Given the description of an element on the screen output the (x, y) to click on. 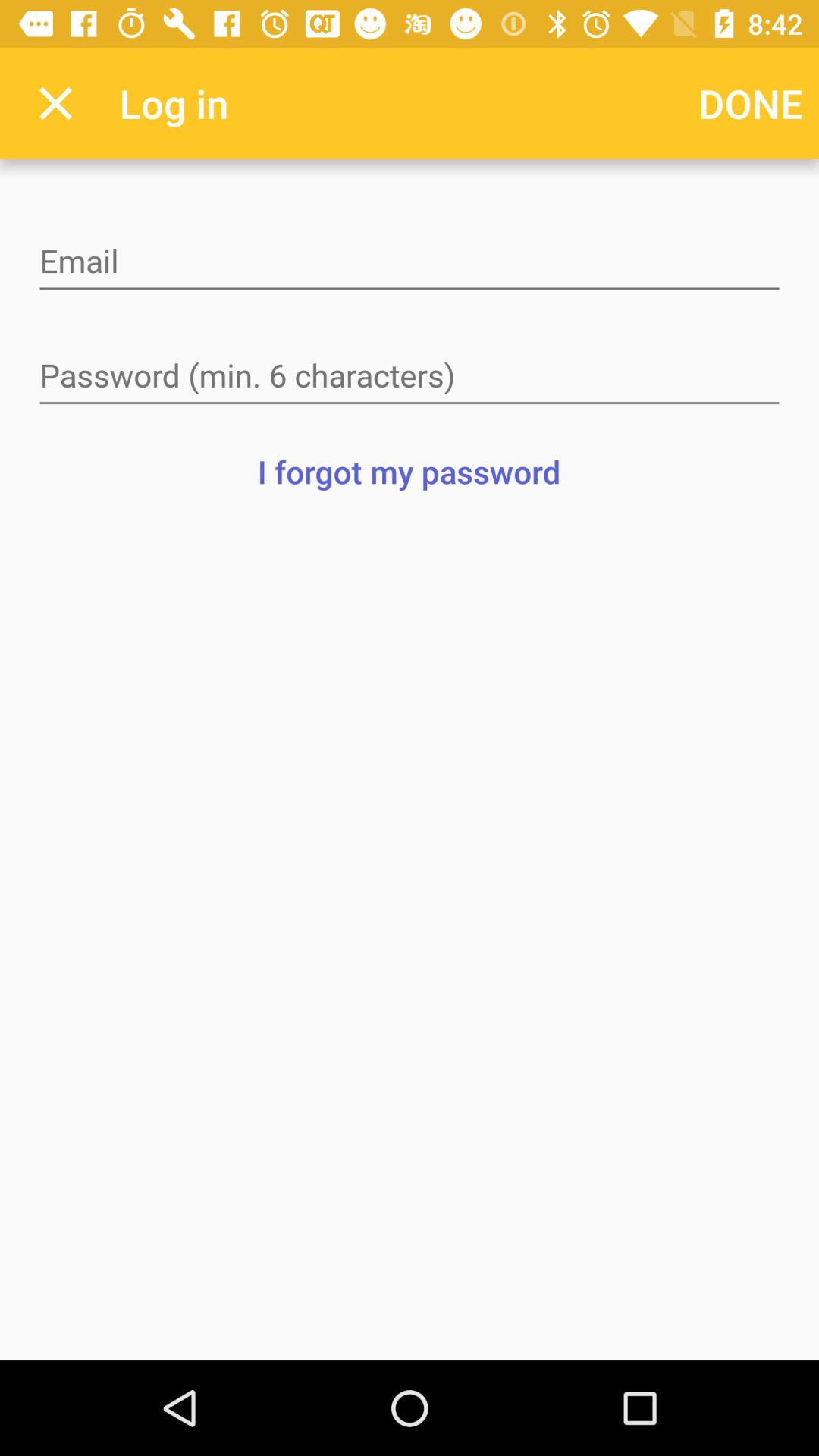
launch the item at the top right corner (750, 103)
